Given the description of an element on the screen output the (x, y) to click on. 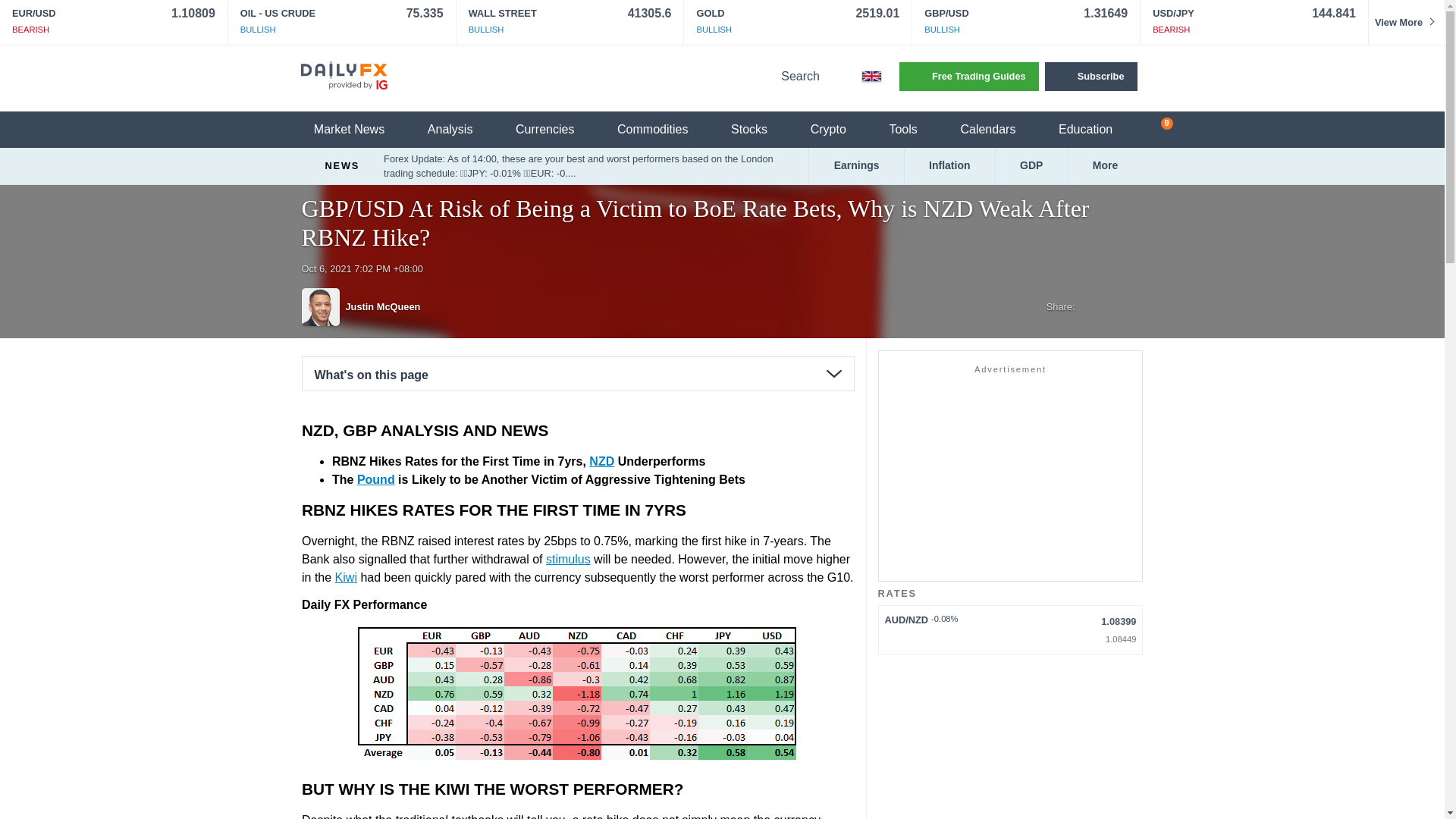
stimulus (566, 558)
Currencies (554, 129)
Analysis (458, 129)
Free Trading Guides (969, 76)
Kiwi (345, 576)
Market News (357, 129)
Subscribe (1091, 76)
Pound (375, 479)
NZD (601, 461)
